Given the description of an element on the screen output the (x, y) to click on. 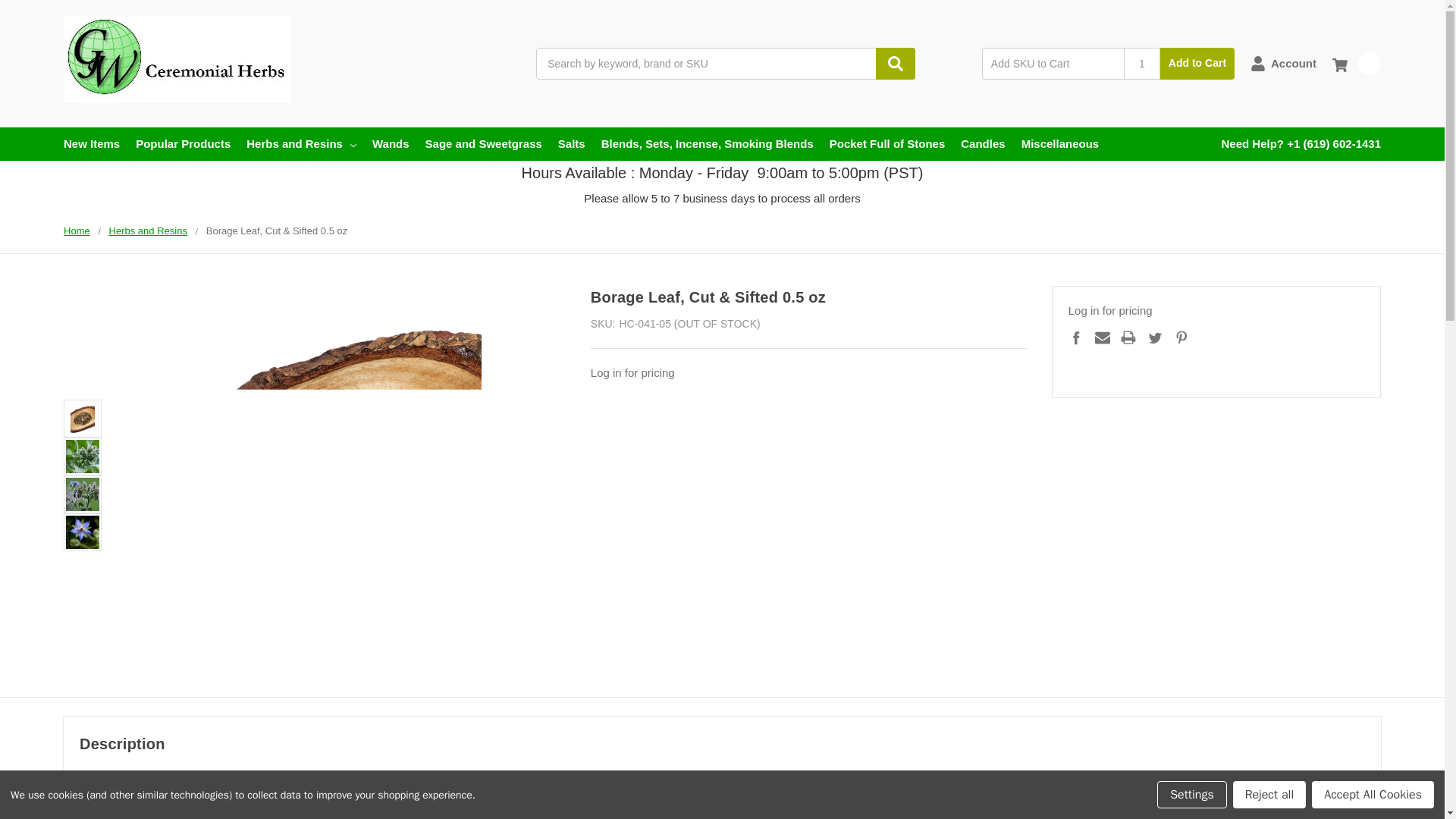
Blends, Sets, Incense, Smoking Blends (707, 143)
Add to Cart (1197, 63)
Wands (390, 143)
1 (1142, 63)
GW Ceremonial Herbs (177, 59)
Herbs and Resins (148, 230)
Herbs and Resins (301, 143)
Home (77, 230)
Print (1128, 337)
Sage and Sweetgrass (483, 143)
